Given the description of an element on the screen output the (x, y) to click on. 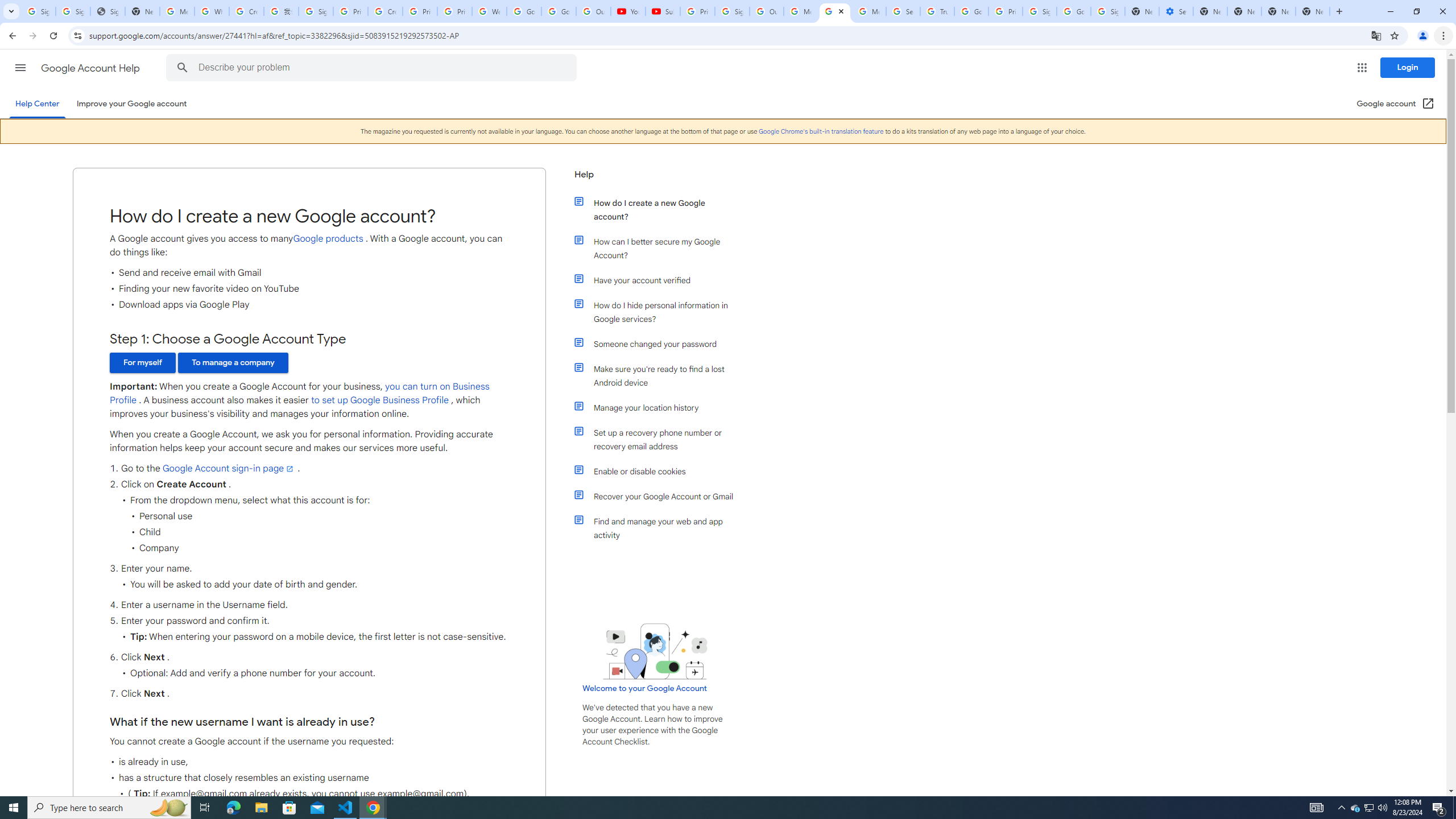
You (1422, 35)
Set up a recovery phone number or recovery email address (661, 439)
Google Account Help (91, 68)
Have your account verified (661, 280)
New Tab (1312, 11)
Create your Google Account (246, 11)
you can turn on Business Profile (299, 393)
New Tab (1278, 11)
Manage your location history (661, 407)
Who is my administrator? - Google Account Help (211, 11)
How can I better secure my Google Account? (661, 248)
Improve your Google account (131, 103)
Search tabs (10, 11)
Login (1407, 67)
